Given the description of an element on the screen output the (x, y) to click on. 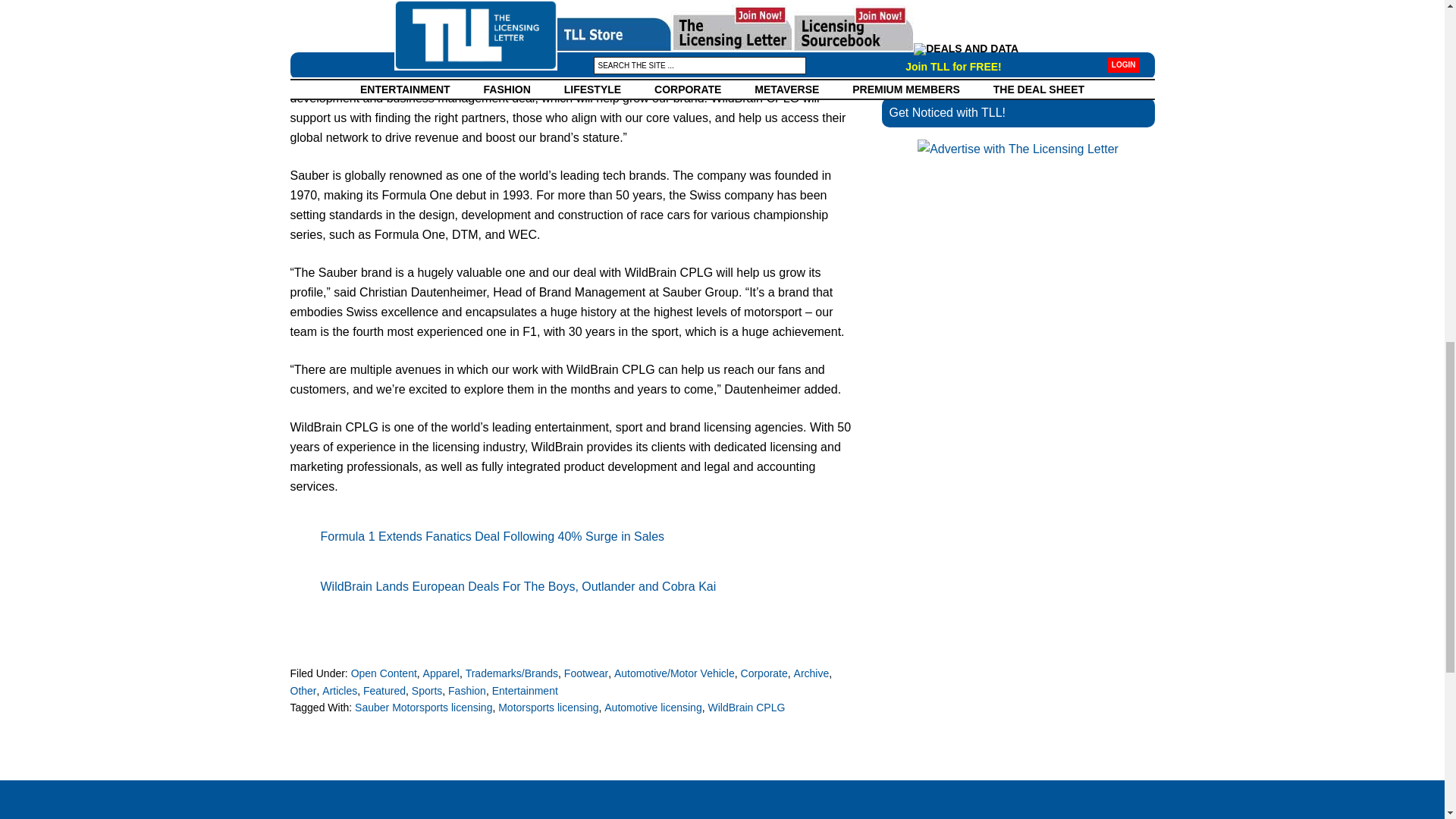
Motorsports licensing (547, 707)
Sports (427, 689)
Footwear (586, 673)
Featured (384, 689)
Automotive licensing (652, 707)
Corporate (764, 673)
Open Content (383, 673)
Articles (338, 689)
Other (302, 689)
Fashion (467, 689)
Entertainment (524, 689)
Archive (811, 673)
Apparel (441, 673)
Sauber Motorsports licensing (423, 707)
